Given the description of an element on the screen output the (x, y) to click on. 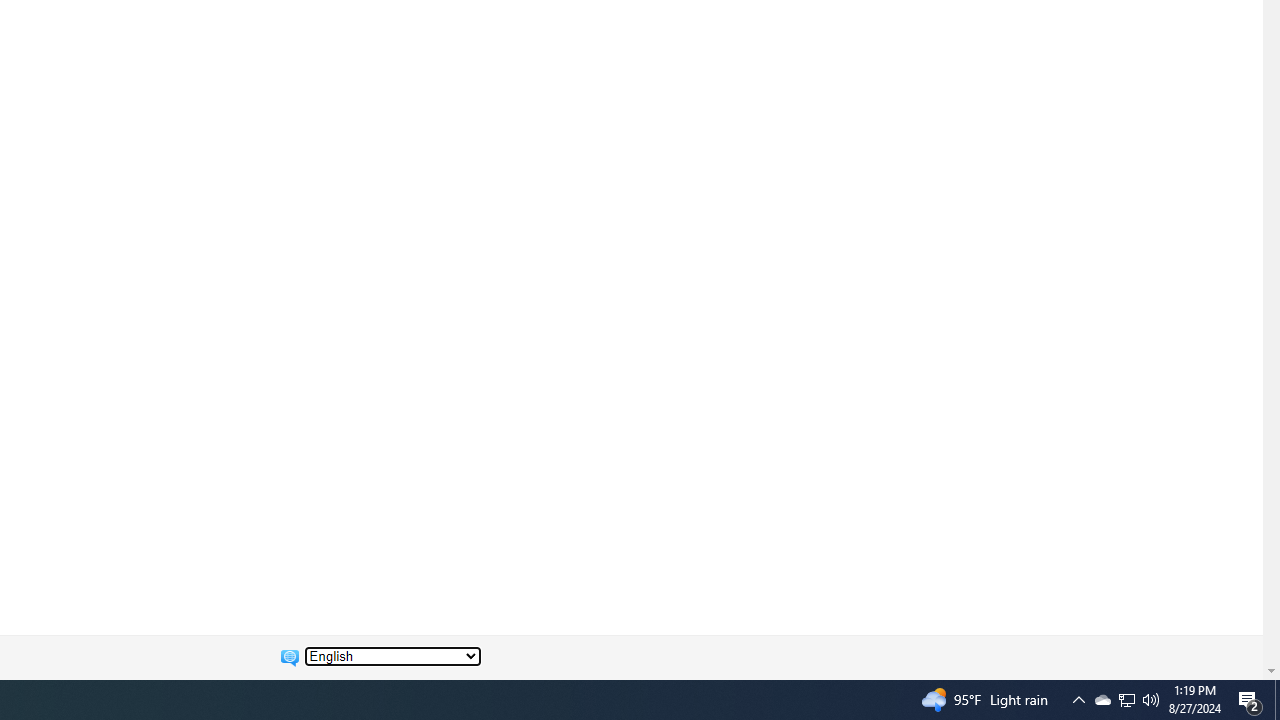
Change language: (392, 656)
